Given the description of an element on the screen output the (x, y) to click on. 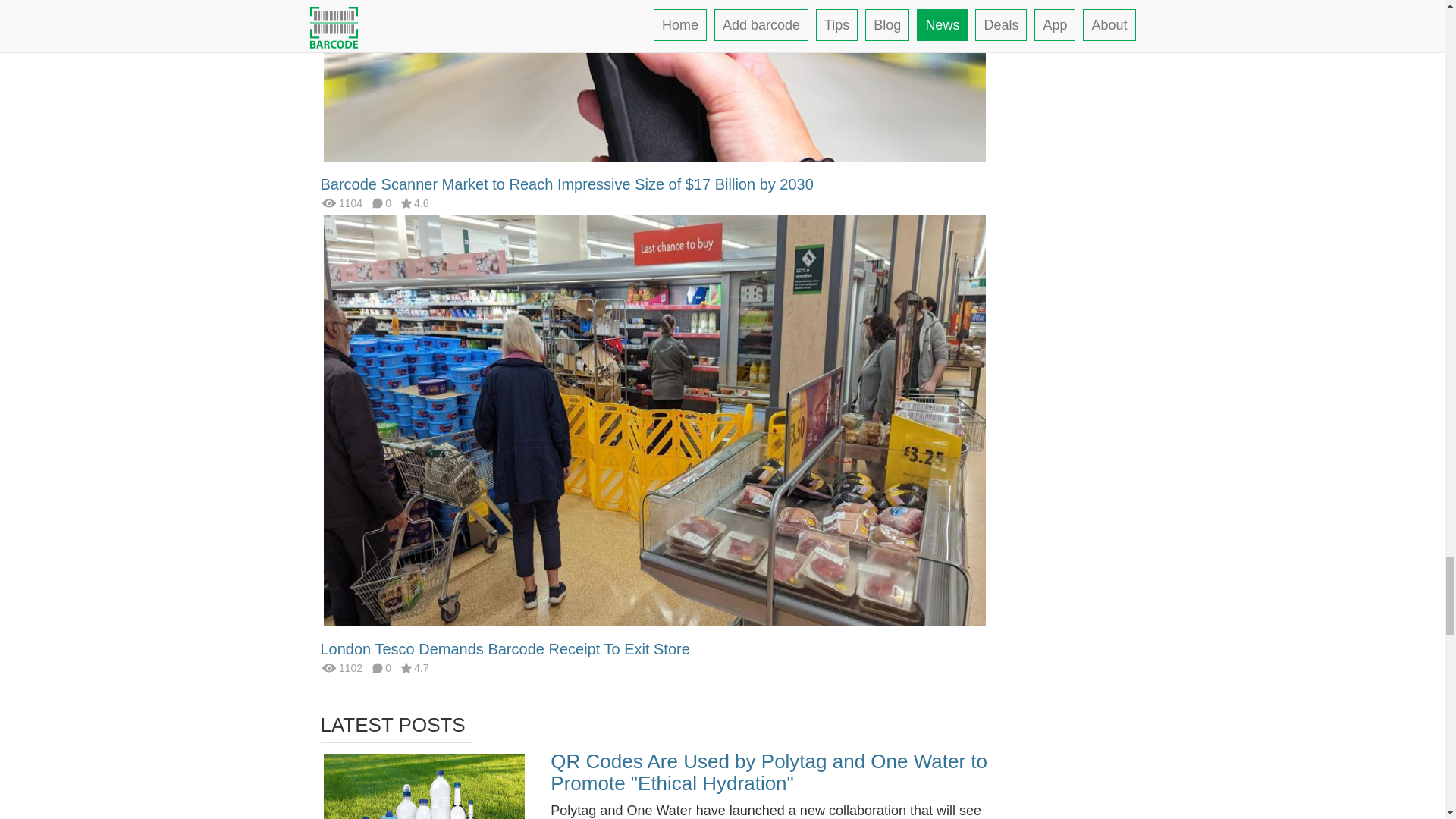
London Tesco Demands Barcode Receipt To Exit Store (504, 648)
